Given the description of an element on the screen output the (x, y) to click on. 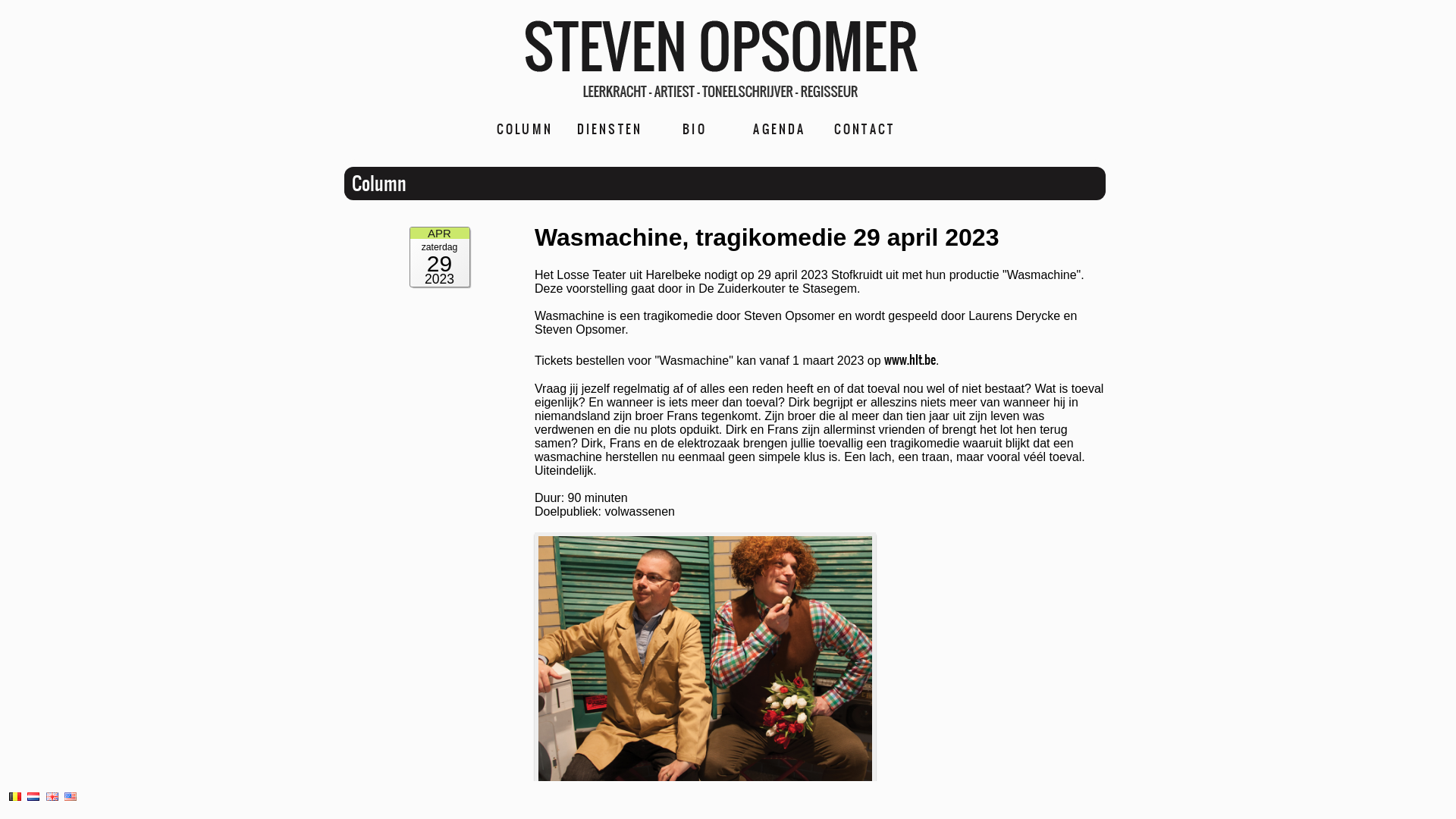
COLUMN Element type: text (524, 128)
DIENSTEN Element type: text (609, 128)
BIO Element type: text (694, 128)
www.hlt.be Element type: text (909, 359)
AGENDA Element type: text (779, 128)
CONTACT Element type: text (864, 128)
